Given the description of an element on the screen output the (x, y) to click on. 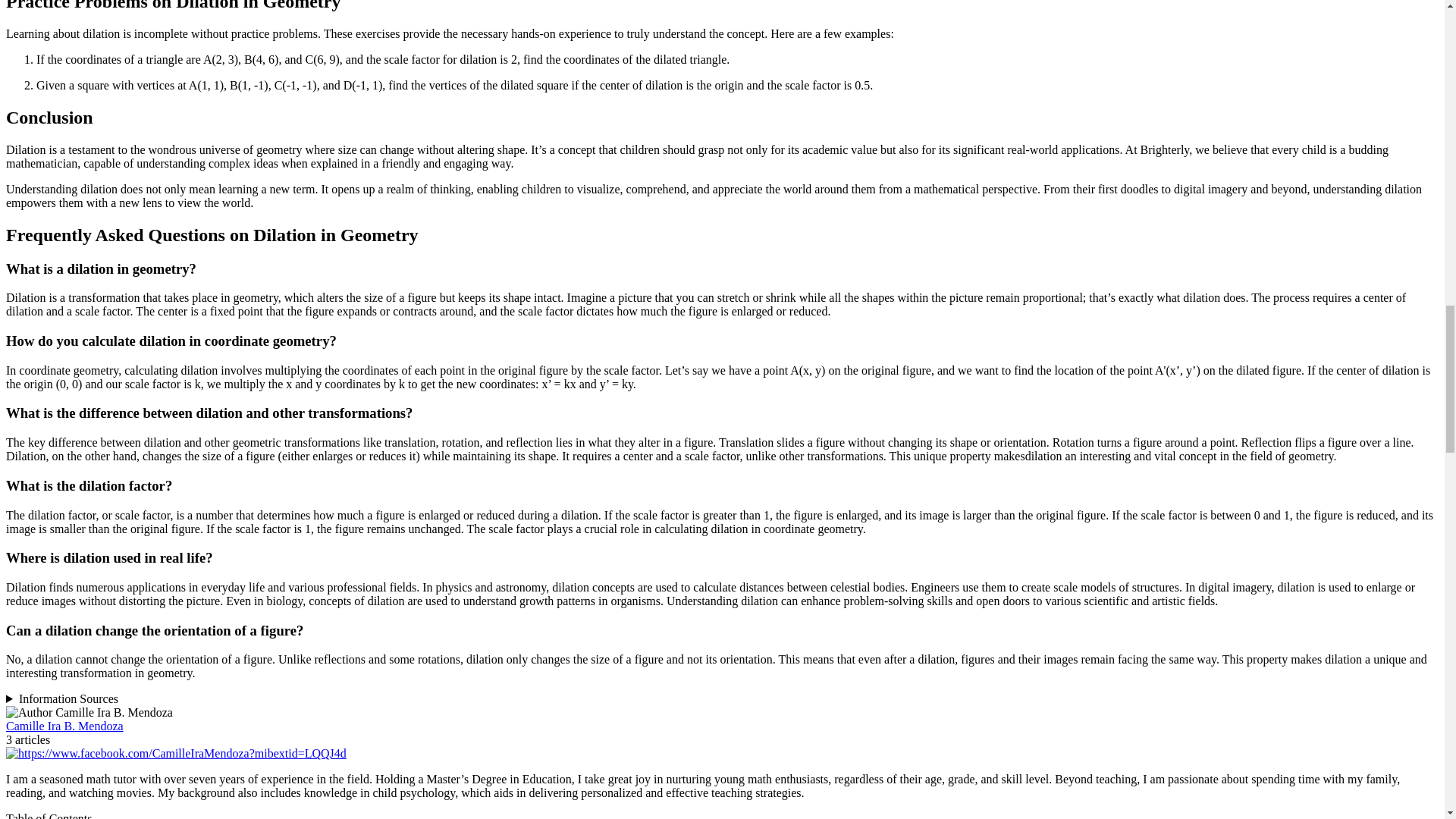
Camille Ira B. Mendoza (64, 725)
